Given the description of an element on the screen output the (x, y) to click on. 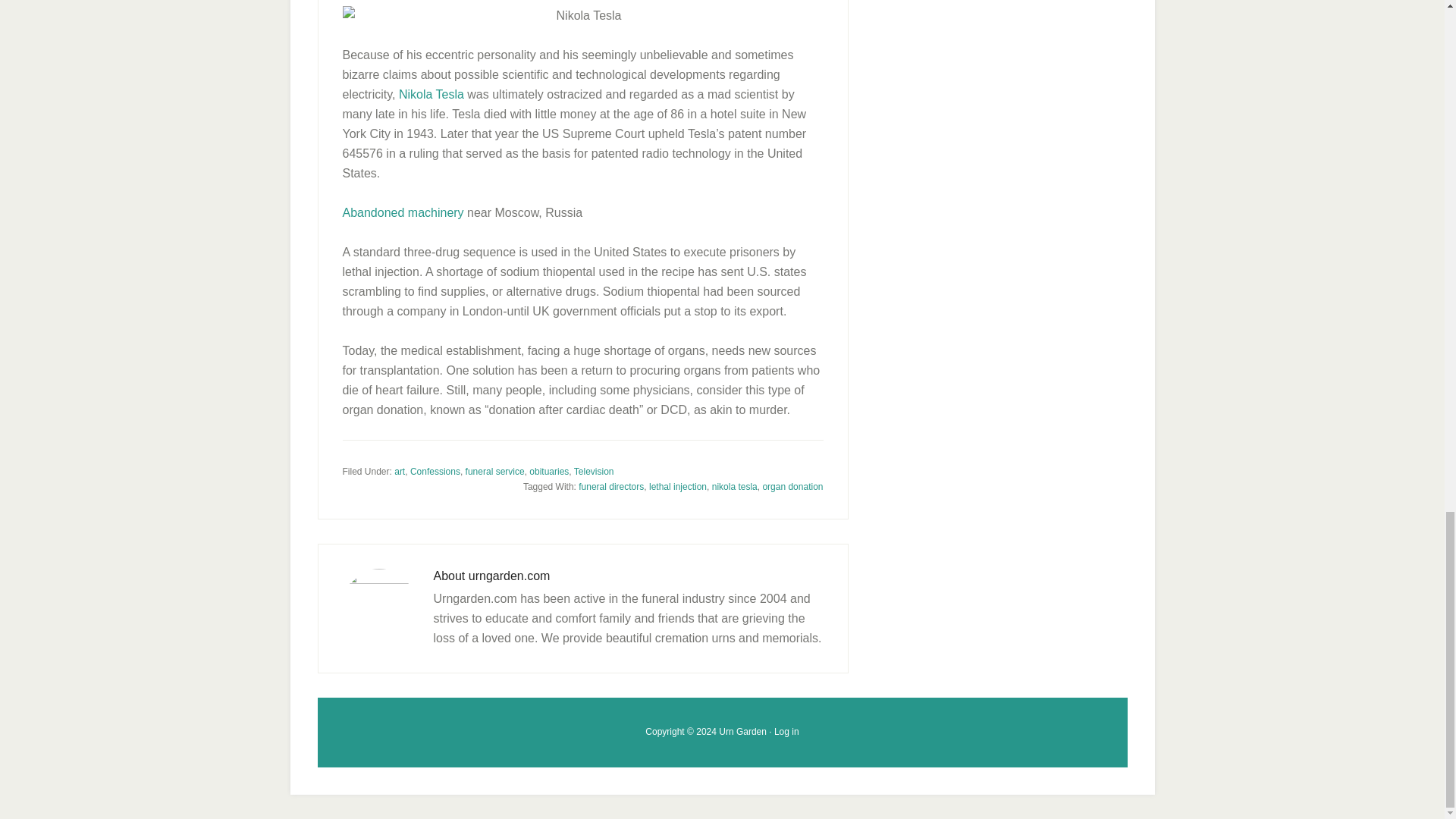
Log in (786, 731)
Television (593, 471)
funeral service (494, 471)
Confessions (435, 471)
Tesla (583, 15)
nikola tesla (734, 486)
lethal injection (677, 486)
Nikola Tesla (431, 93)
obituaries (549, 471)
Tesla (431, 93)
